Given the description of an element on the screen output the (x, y) to click on. 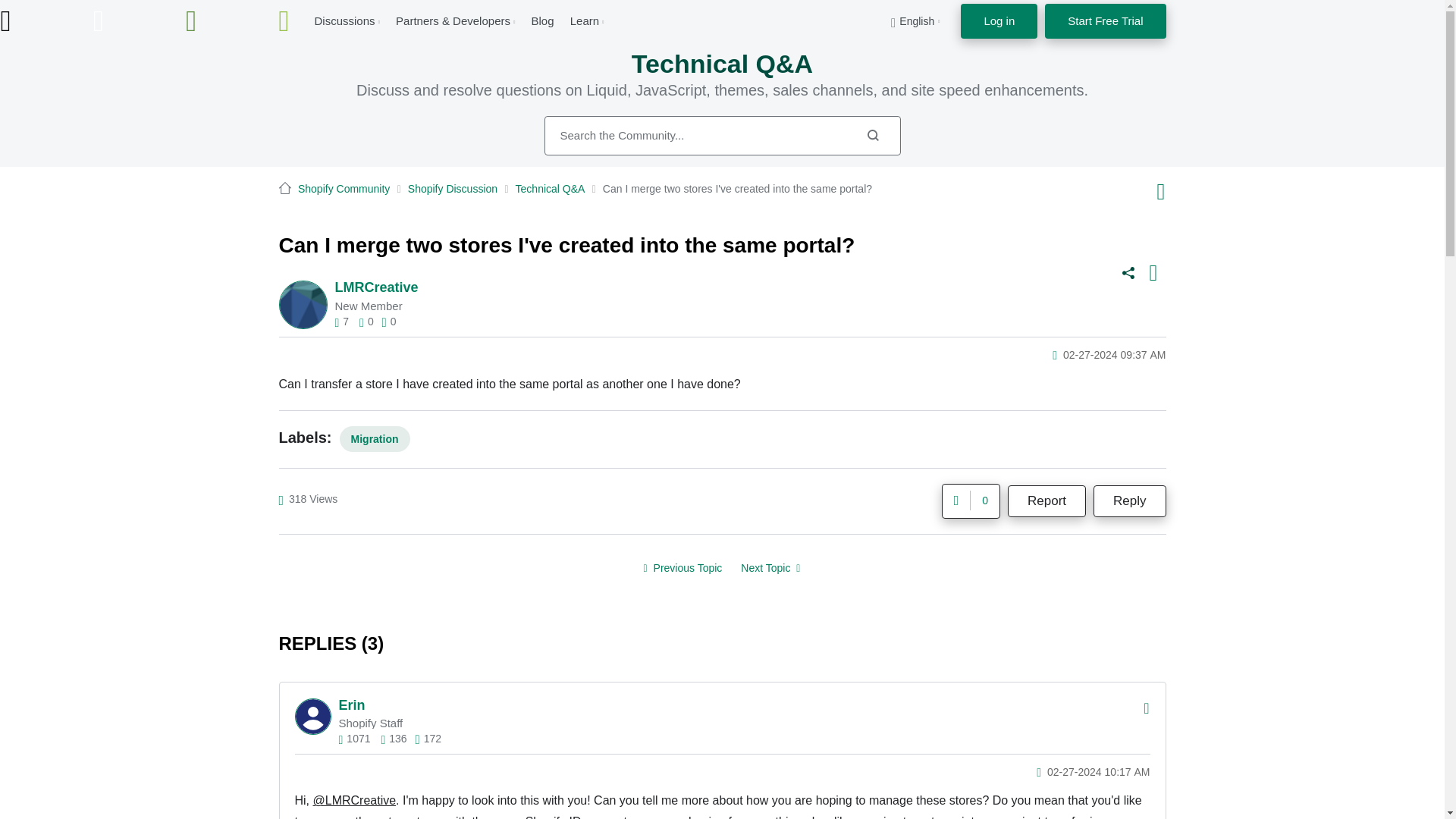
Search (872, 135)
Discussions (344, 20)
Search (872, 135)
Search (722, 135)
